Given the description of an element on the screen output the (x, y) to click on. 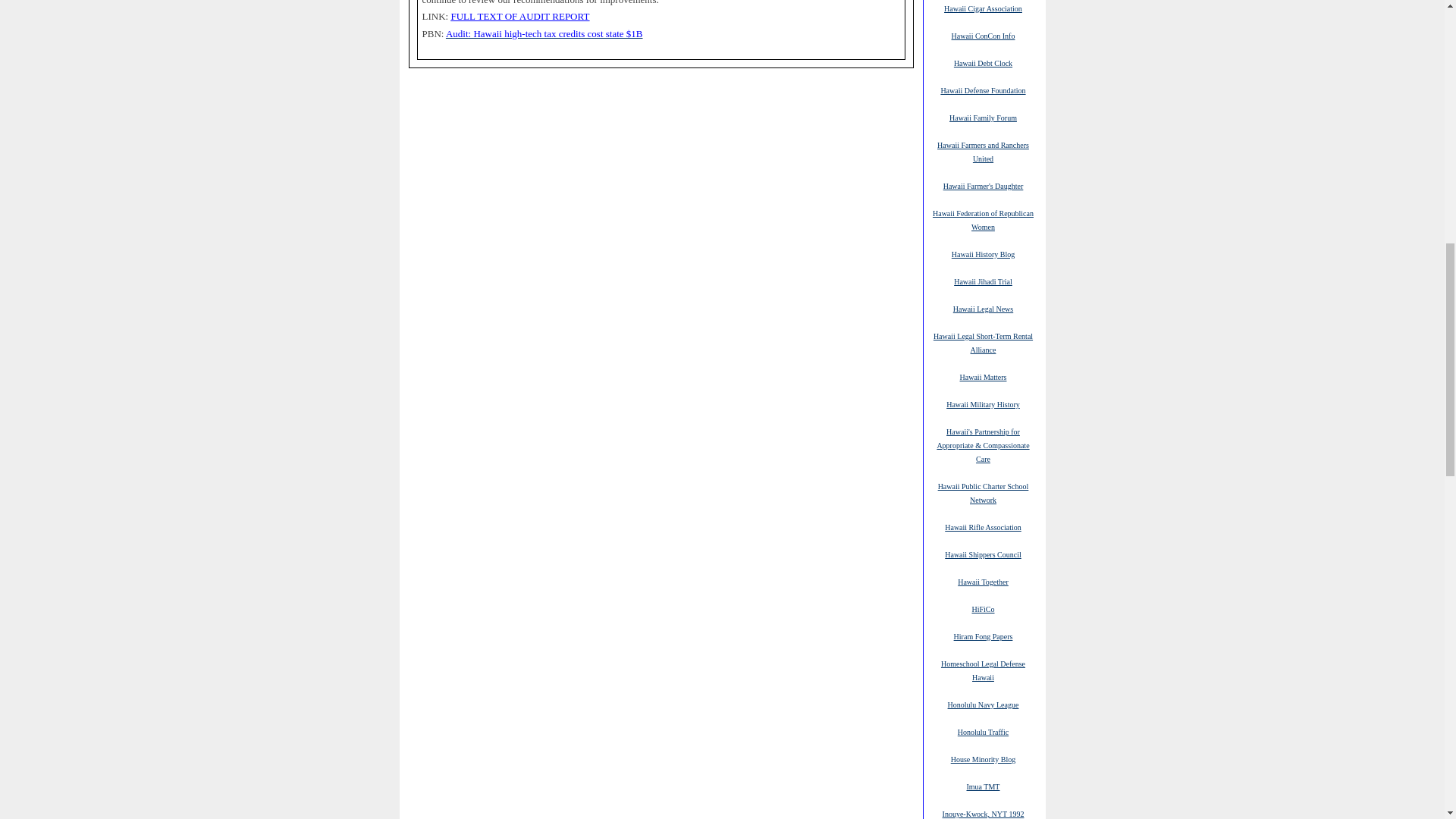
FULL TEXT OF AUDIT REPORT (519, 16)
Hawaii ConCon Info (983, 35)
Hawaii Cigar Association (982, 8)
Hawaii History Blog (983, 253)
Hawaii Farmers and Ranchers United (983, 151)
Hawaii Federation of Republican Women (983, 219)
Hawaii Defense Foundation (982, 90)
Hawaii Debt Clock (982, 62)
Hawaii Farmer's Daughter (983, 185)
Hawaii Family Forum (982, 117)
